Given the description of an element on the screen output the (x, y) to click on. 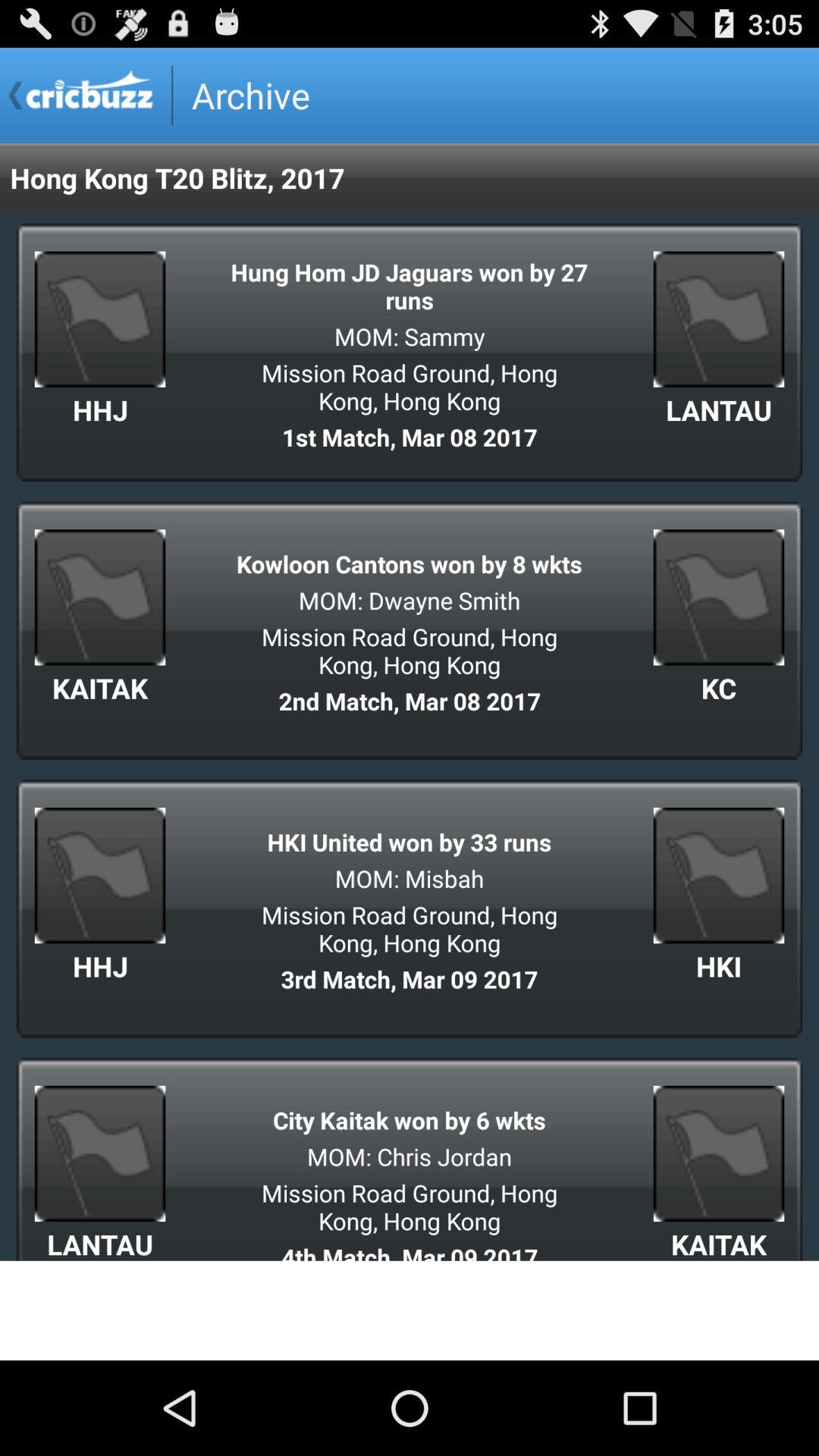
choose kc app (718, 687)
